Given the description of an element on the screen output the (x, y) to click on. 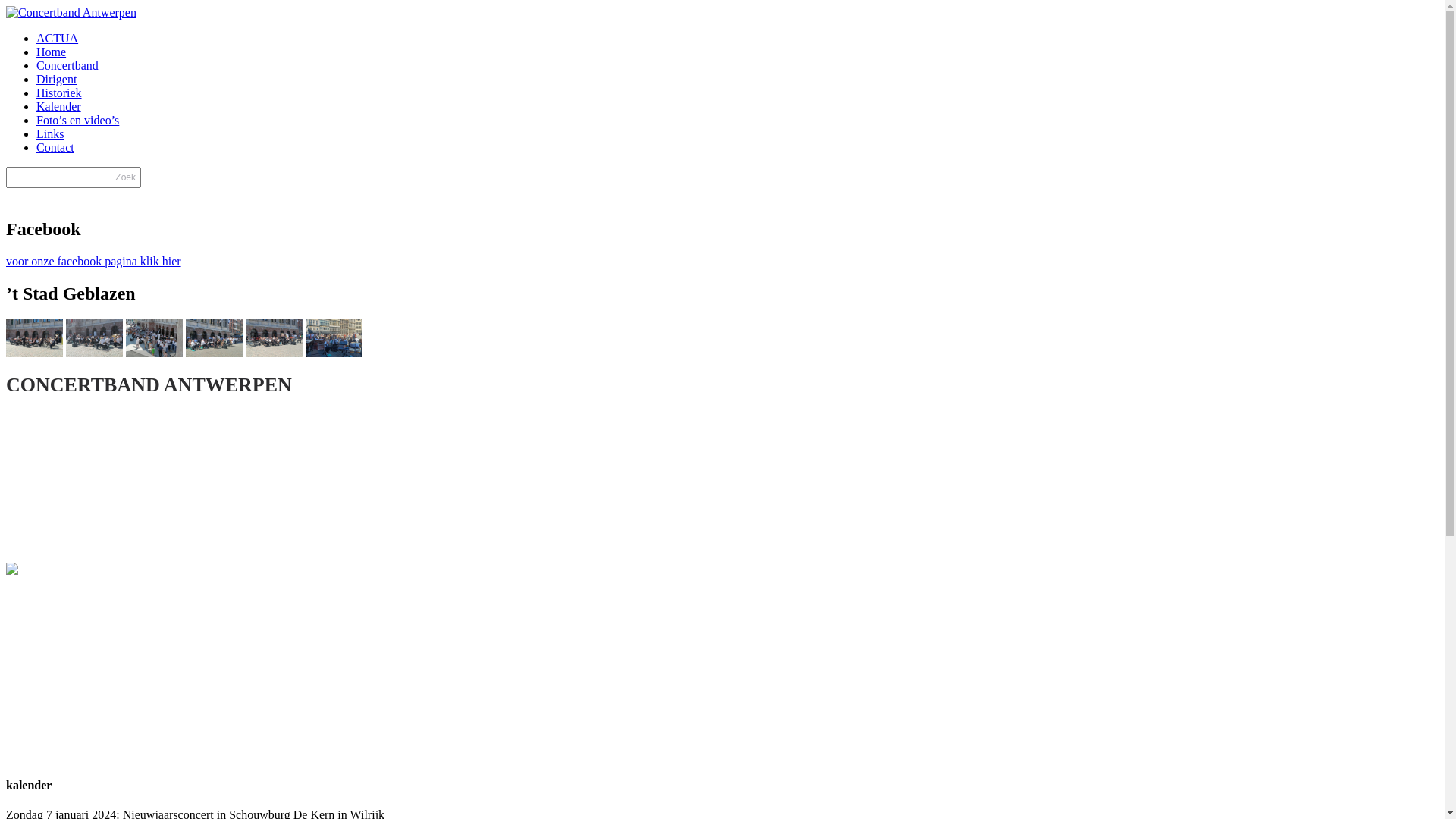
Links Element type: text (49, 133)
  Element type: hover (333, 352)
230624-t-stad-geblazen-labore-et-constantia-2 Element type: hover (273, 338)
Concertband Element type: text (67, 65)
Find Element type: text (21, 195)
230624-t-stad-geblazen-kunst-na-arbeid-2 Element type: hover (333, 338)
  Element type: hover (213, 352)
230624-t-stad-geblazen-kunst-na-arbeid-5 Element type: hover (93, 338)
  Element type: hover (34, 352)
Dirigent Element type: text (56, 78)
230624-t-stad-geblazen-kunst-na-arbeid-3 Element type: hover (153, 338)
  Element type: hover (93, 352)
Home Element type: text (50, 51)
  Element type: hover (153, 352)
Historiek Element type: text (58, 92)
  Element type: hover (273, 352)
Kalender Element type: text (58, 106)
Contact Element type: text (55, 147)
230624-t-stad-geblazen-kunst-na-arbeid-4 Element type: hover (213, 338)
230624-t-stad-geblazen-labore-et-constantia-1 Element type: hover (34, 338)
voor onze facebook pagina klik hier Element type: text (93, 260)
ACTUA Element type: text (57, 37)
Home Element type: hover (71, 12)
